Given the description of an element on the screen output the (x, y) to click on. 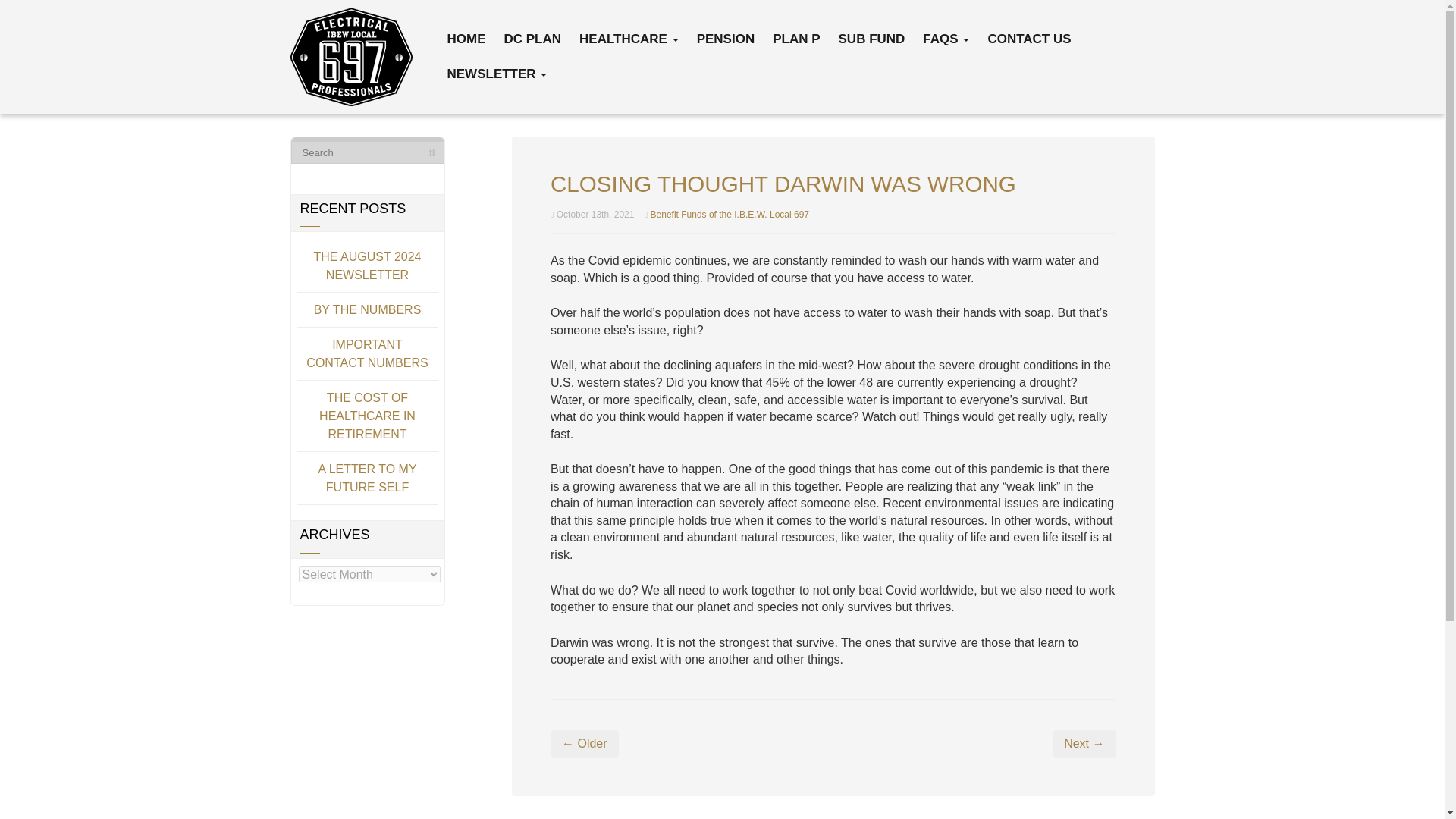
Posts by Benefit Funds of the I.B.E.W. Local 697 (729, 214)
PENSION (725, 38)
DC PLAN (533, 38)
CONTACT US (1029, 38)
HEALTHCARE (628, 38)
PLAN P (796, 38)
FAQS (945, 38)
NEWSLETTER (496, 74)
HOME (465, 38)
SUB FUND (871, 38)
